Given the description of an element on the screen output the (x, y) to click on. 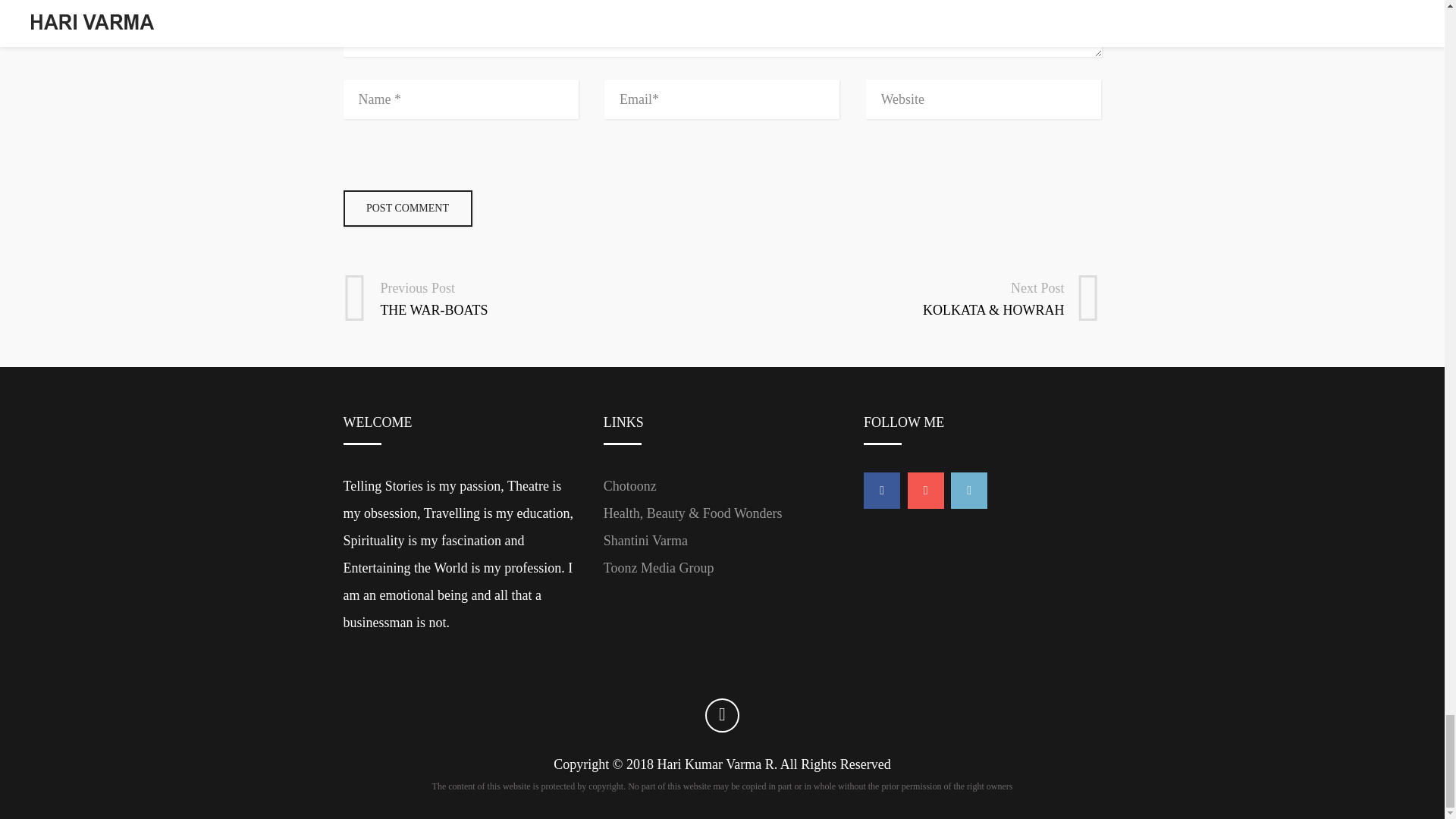
Youtube (925, 490)
A you tube based Web TV for kids (630, 485)
Linkedin (968, 490)
Facebook (881, 490)
Post Comment (406, 208)
Post Comment (406, 208)
